Given the description of an element on the screen output the (x, y) to click on. 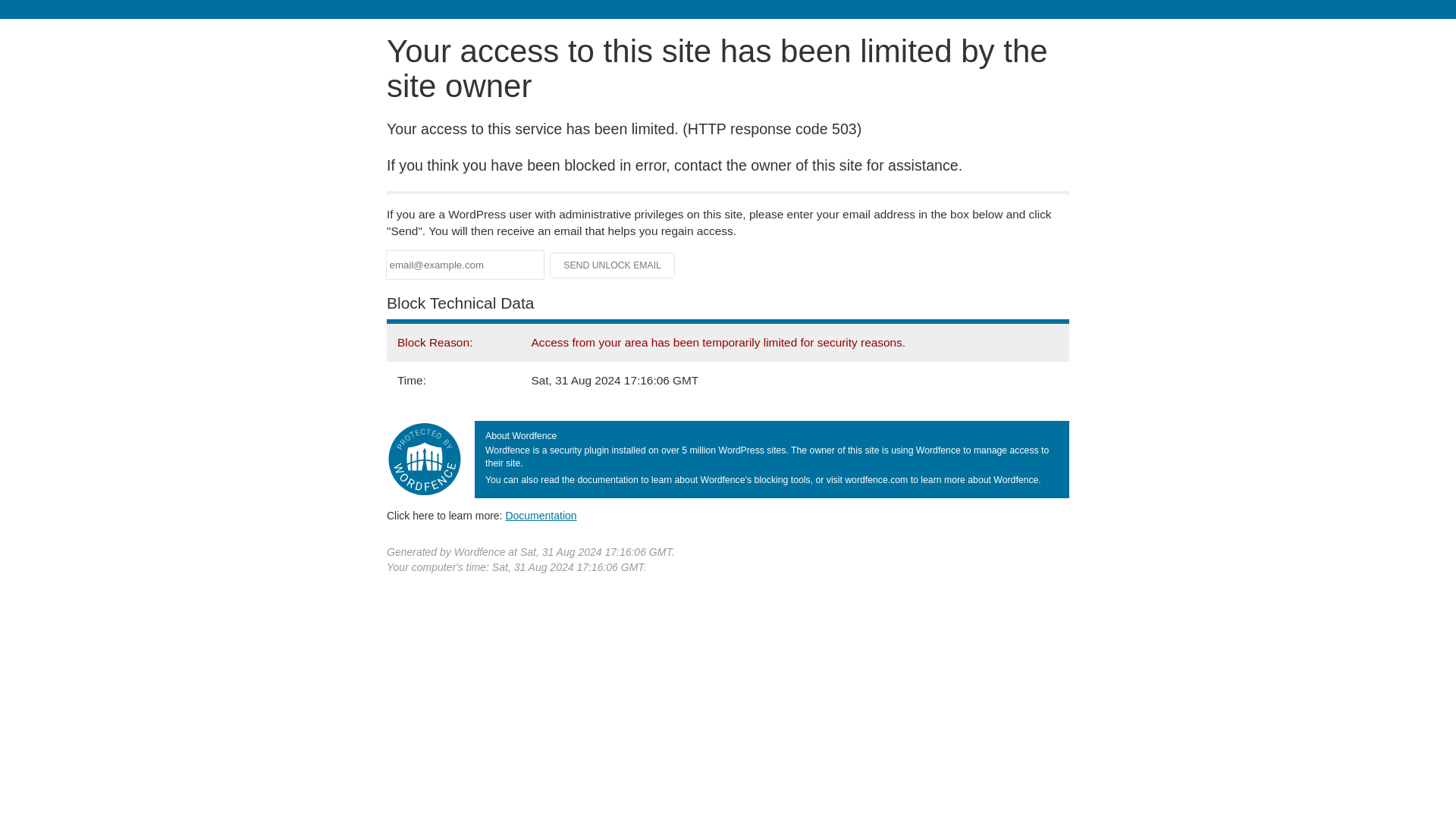
Send Unlock Email (612, 265)
Send Unlock Email (612, 265)
Documentation (540, 515)
